Given the description of an element on the screen output the (x, y) to click on. 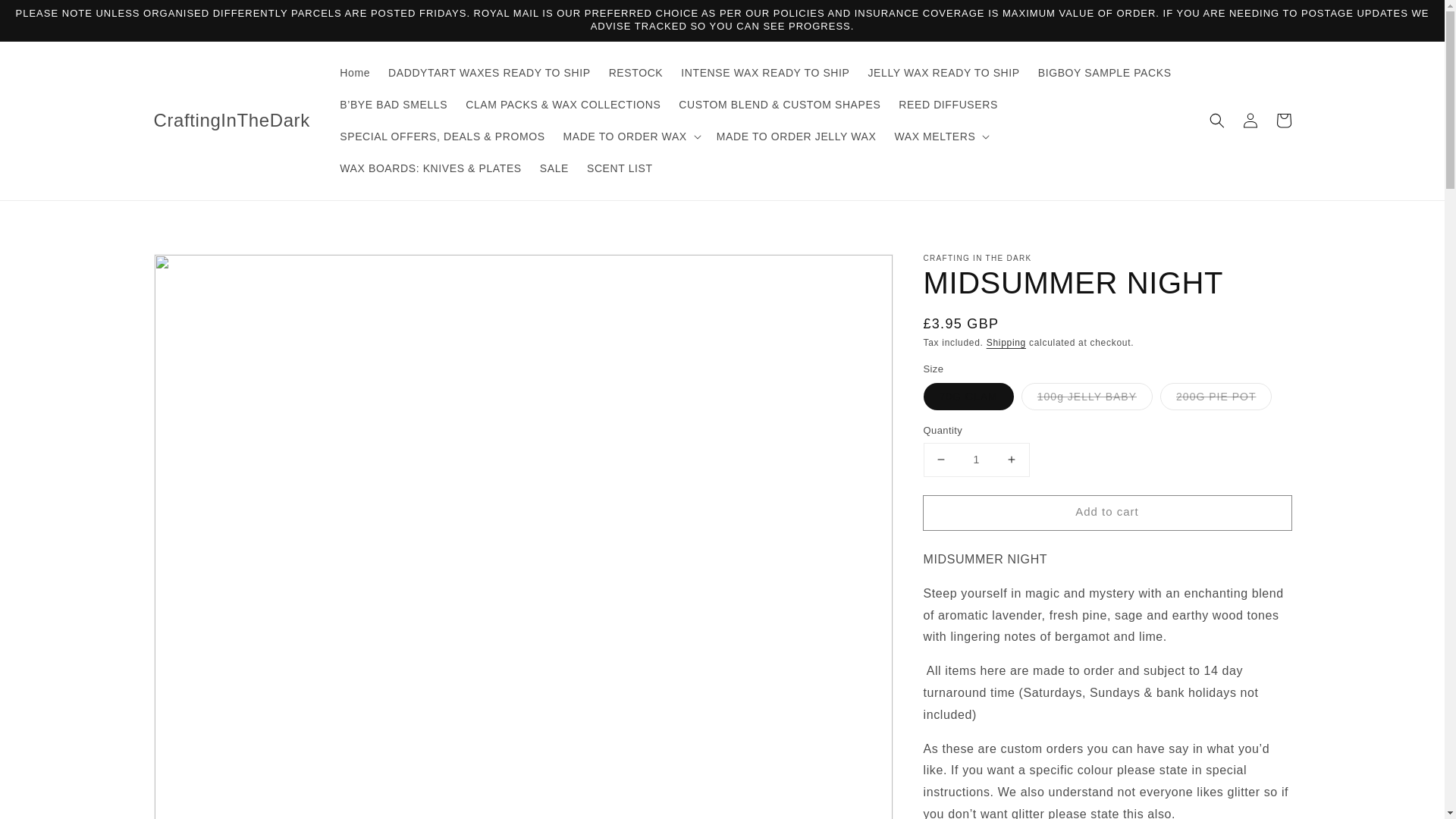
JELLY WAX READY TO SHIP (943, 72)
Home (354, 72)
Skip to content (45, 16)
INTENSE WAX READY TO SHIP (765, 72)
CraftingInTheDark (231, 120)
DADDYTART WAXES READY TO SHIP (488, 72)
RESTOCK (635, 72)
1 (976, 459)
